Given the description of an element on the screen output the (x, y) to click on. 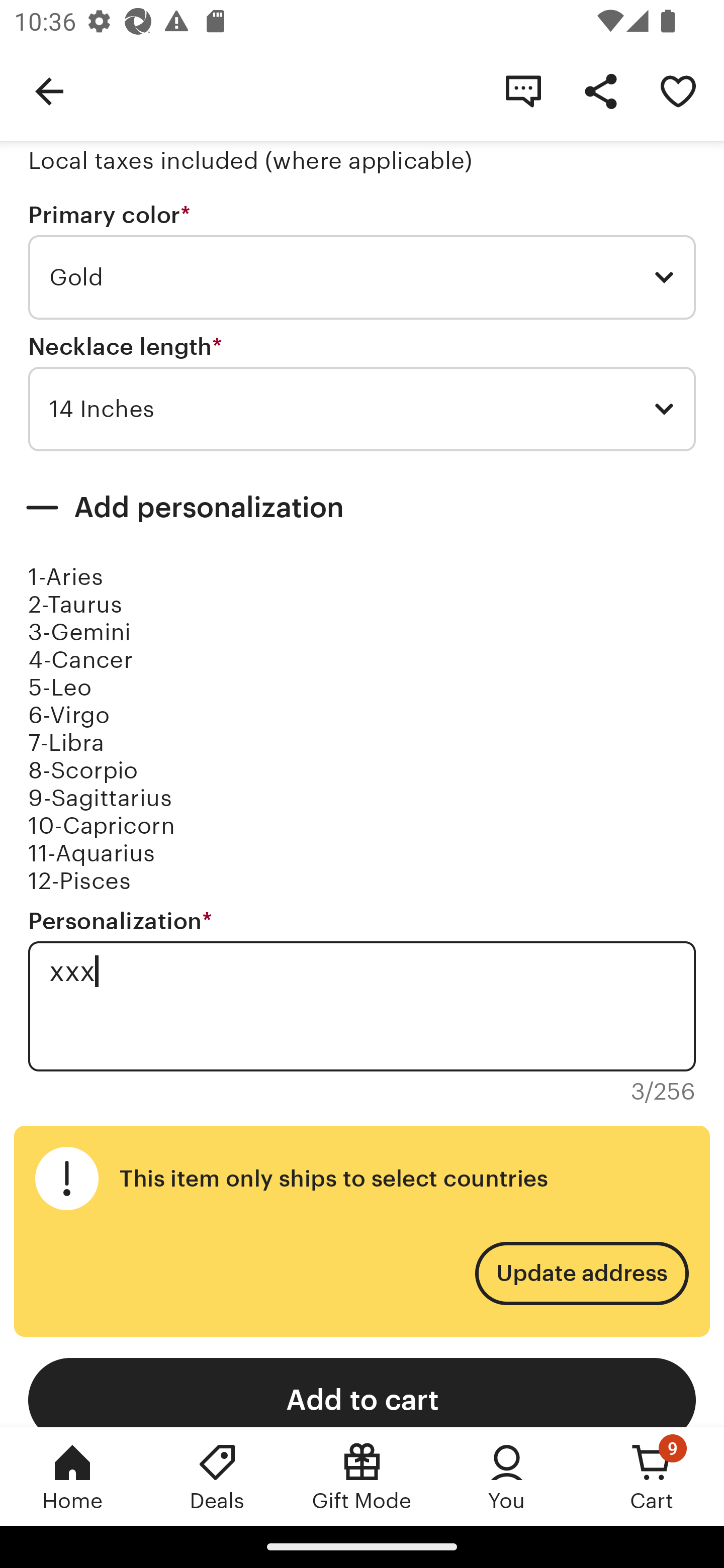
Navigate up (49, 90)
Contact shop (523, 90)
Share (600, 90)
Primary color * Required Gold (361, 260)
Gold (361, 277)
Necklace length * Required 14 Inches (361, 392)
14 Inches (361, 408)
Add personalization Add personalization Required (362, 507)
xxx (361, 1005)
Update address (581, 1272)
Add to cart (361, 1391)
Deals (216, 1475)
Gift Mode (361, 1475)
You (506, 1475)
Cart, 9 new notifications Cart (651, 1475)
